Given the description of an element on the screen output the (x, y) to click on. 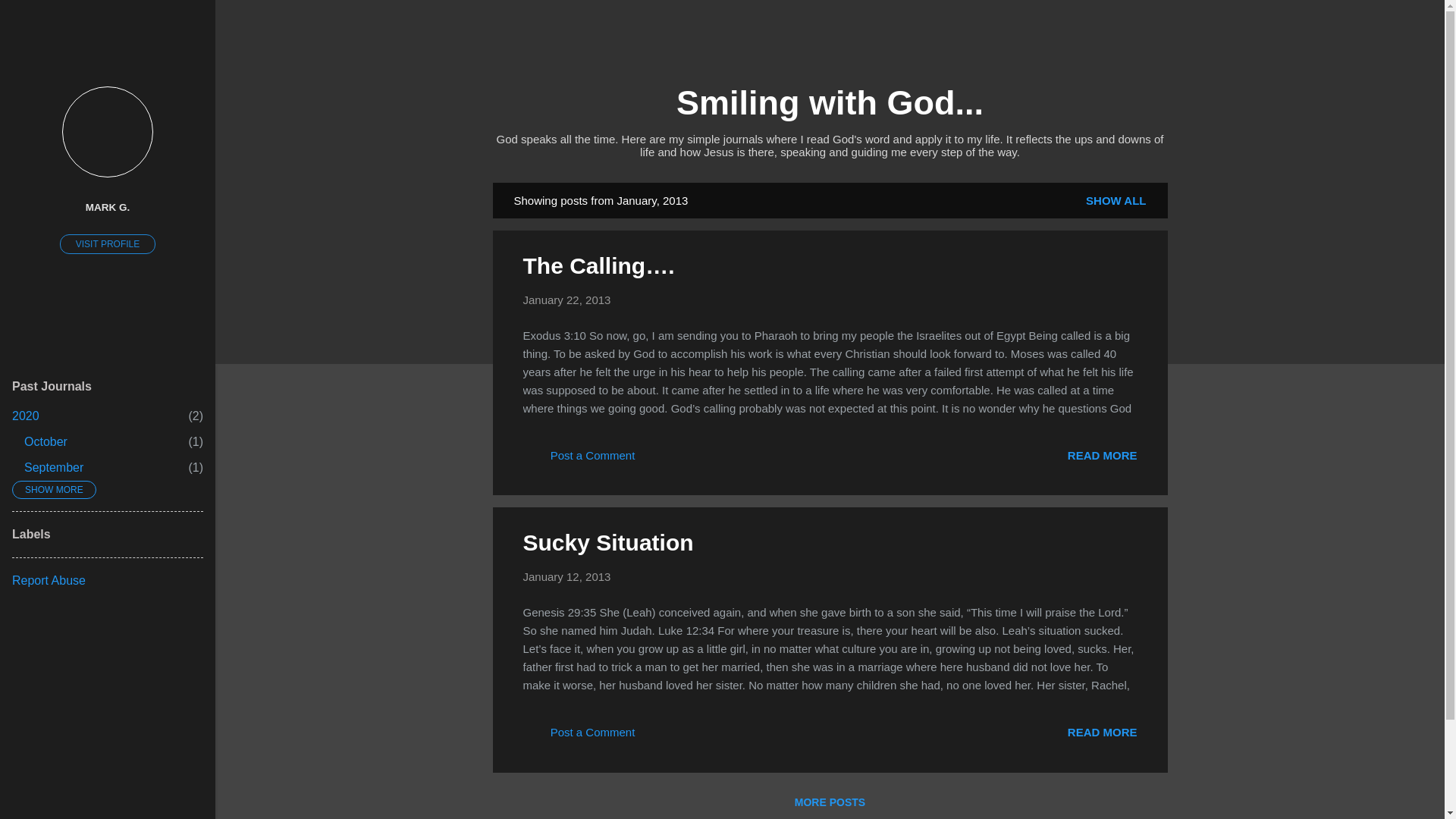
Post a Comment (578, 459)
Smiling with God... (830, 102)
January 22, 2013 (566, 299)
Sucky Situation (45, 440)
MORE POSTS (608, 542)
permanent link (829, 802)
READ MORE (566, 299)
permanent link (53, 467)
